Given the description of an element on the screen output the (x, y) to click on. 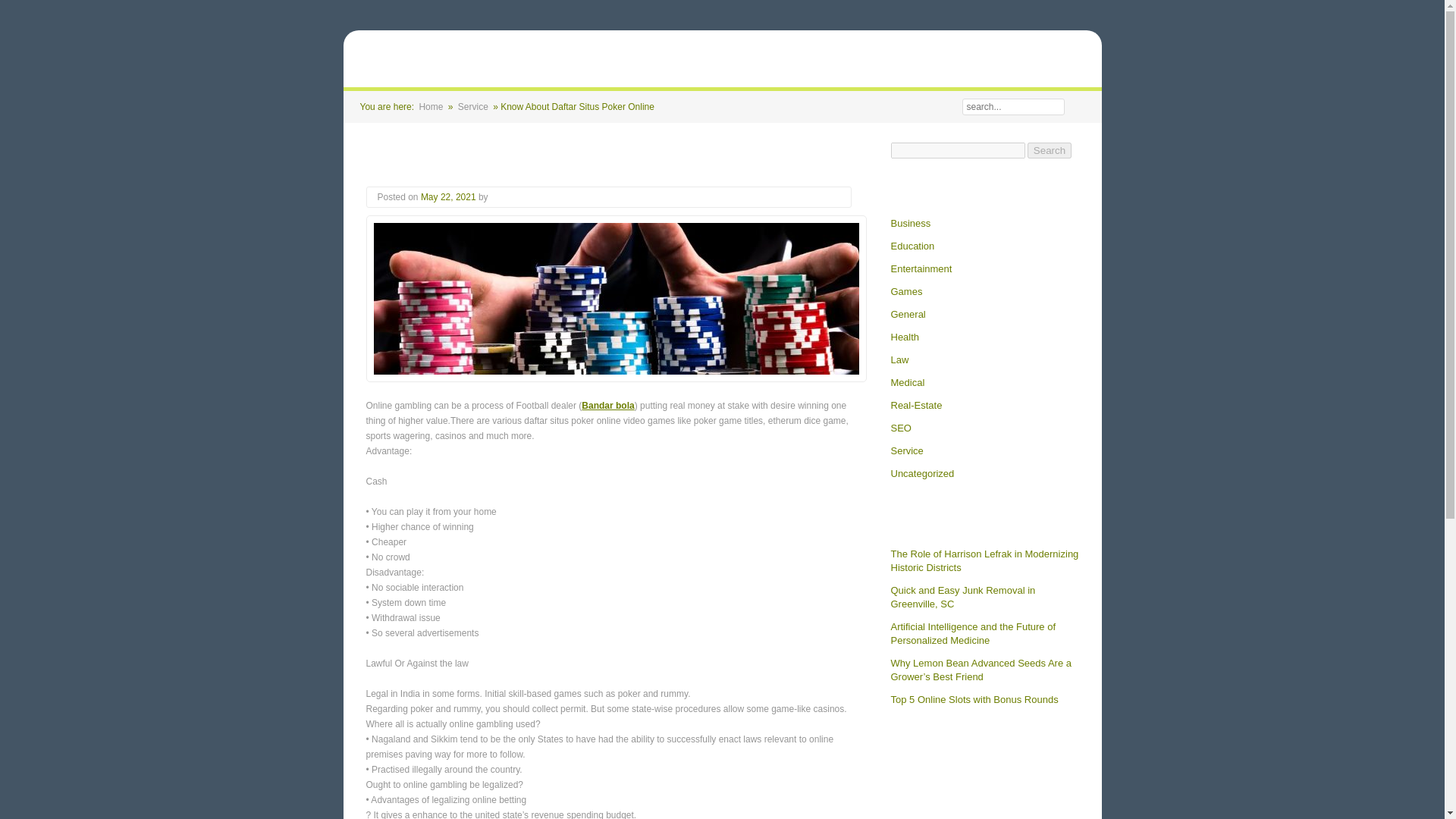
Games (905, 291)
Entertainment (920, 269)
May 22, 2021 (449, 196)
Medical (906, 382)
Law (898, 359)
Bandar bola (606, 405)
Service (472, 106)
Search (1075, 106)
Health (903, 336)
Top 5 Online Slots with Bonus Rounds (973, 699)
